Given the description of an element on the screen output the (x, y) to click on. 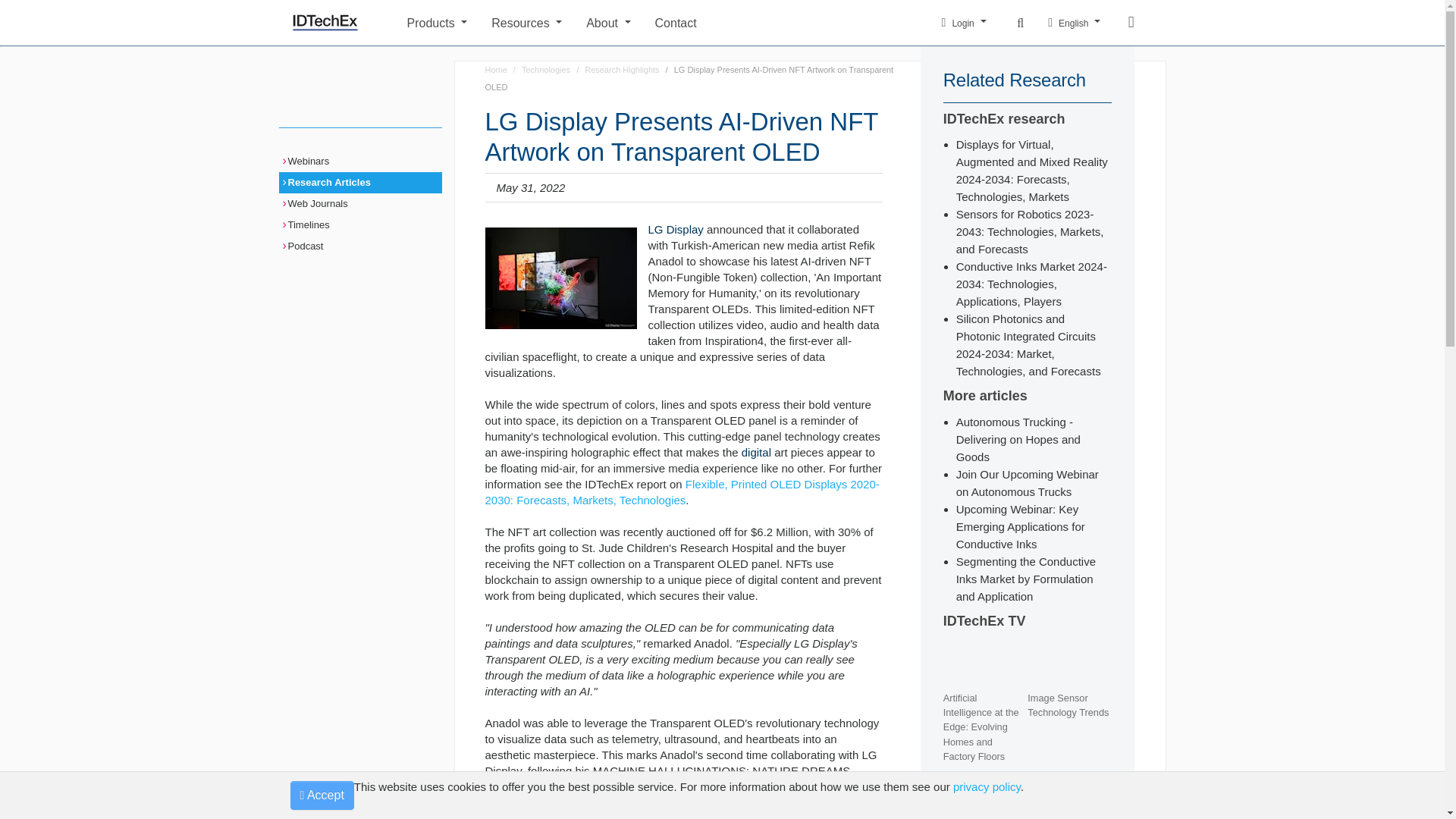
Accept (321, 795)
  English (1074, 22)
Contact (786, 21)
Products (436, 21)
About (607, 21)
privacy policy (986, 786)
Resources (525, 21)
  Login (964, 22)
